Given the description of an element on the screen output the (x, y) to click on. 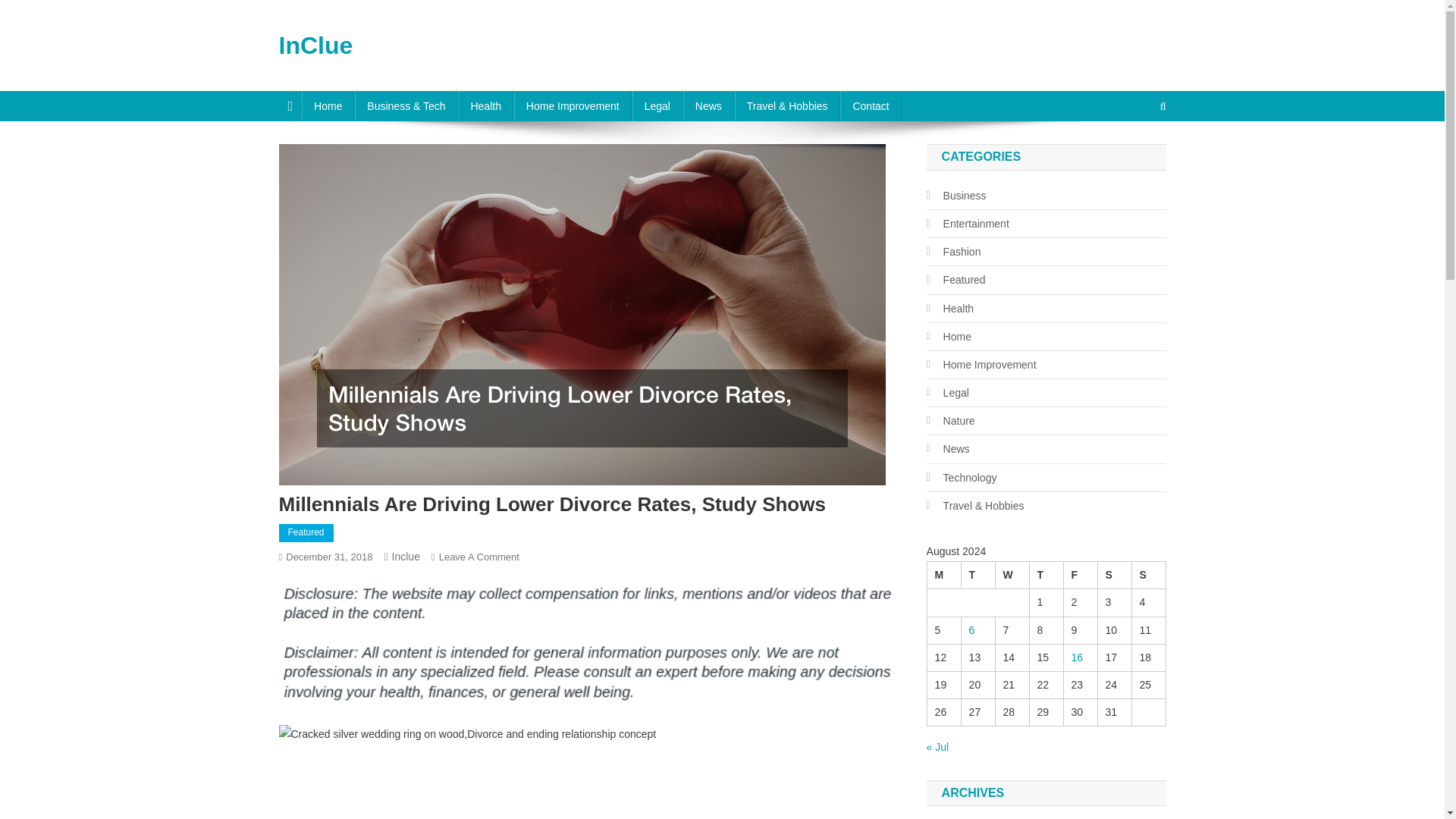
Friday (1079, 574)
Health (485, 105)
Search (1133, 156)
Sunday (1148, 574)
December 31, 2018 (328, 556)
Monday (943, 574)
Home (327, 105)
Contact (870, 105)
Inclue (405, 556)
Tuesday (977, 574)
